Given the description of an element on the screen output the (x, y) to click on. 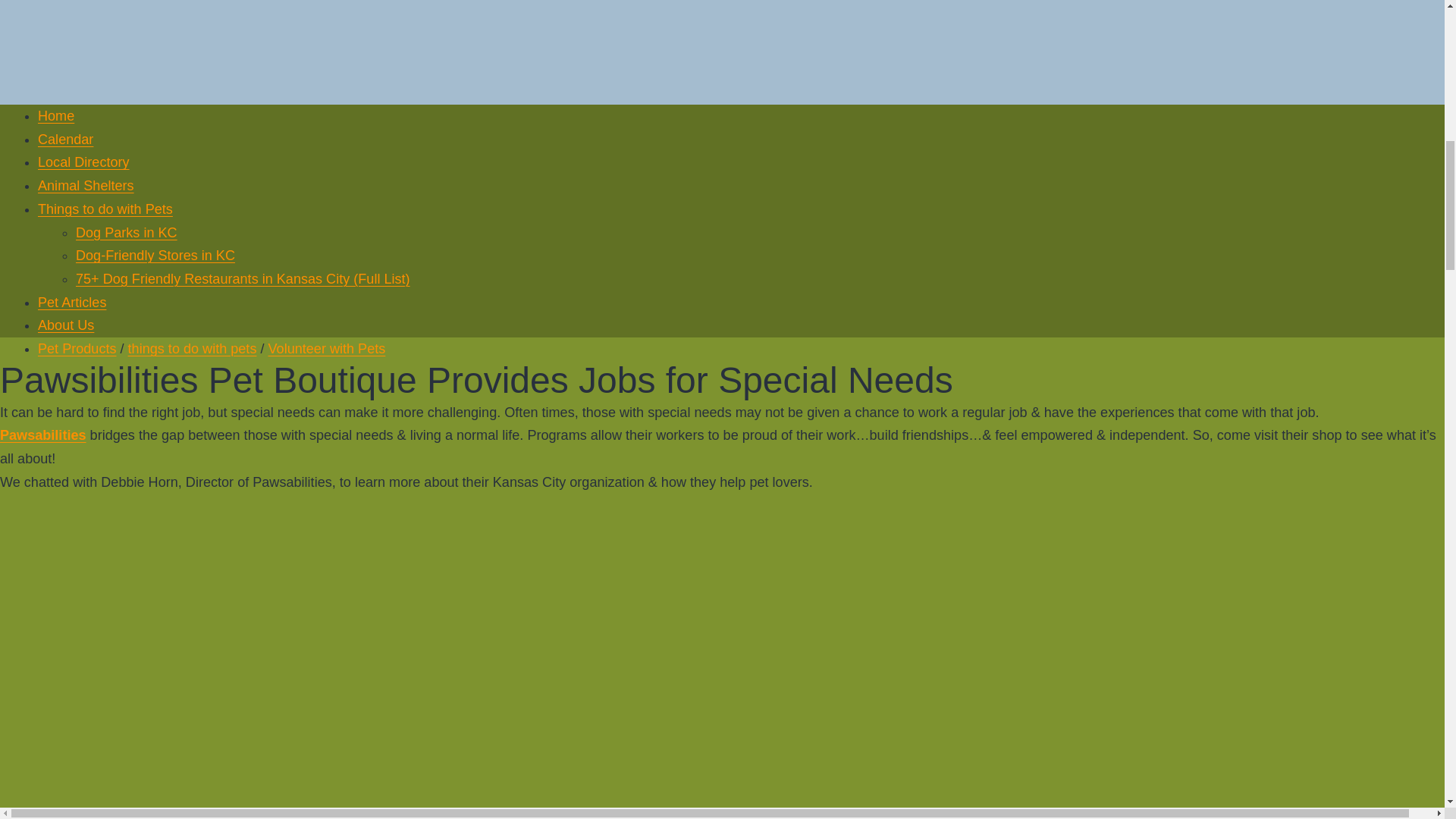
Dog Parks in KC (126, 231)
Pet Products (76, 348)
Volunteer with Pets (326, 348)
Pet Articles (71, 302)
Calendar (65, 139)
Things to do with Pets (105, 209)
Pawsabilities (42, 435)
About Us (65, 324)
Local Directory (83, 161)
Animal Shelters (85, 185)
Dog-Friendly Stores in KC (154, 255)
things to do with pets (192, 348)
Home (55, 115)
